Given the description of an element on the screen output the (x, y) to click on. 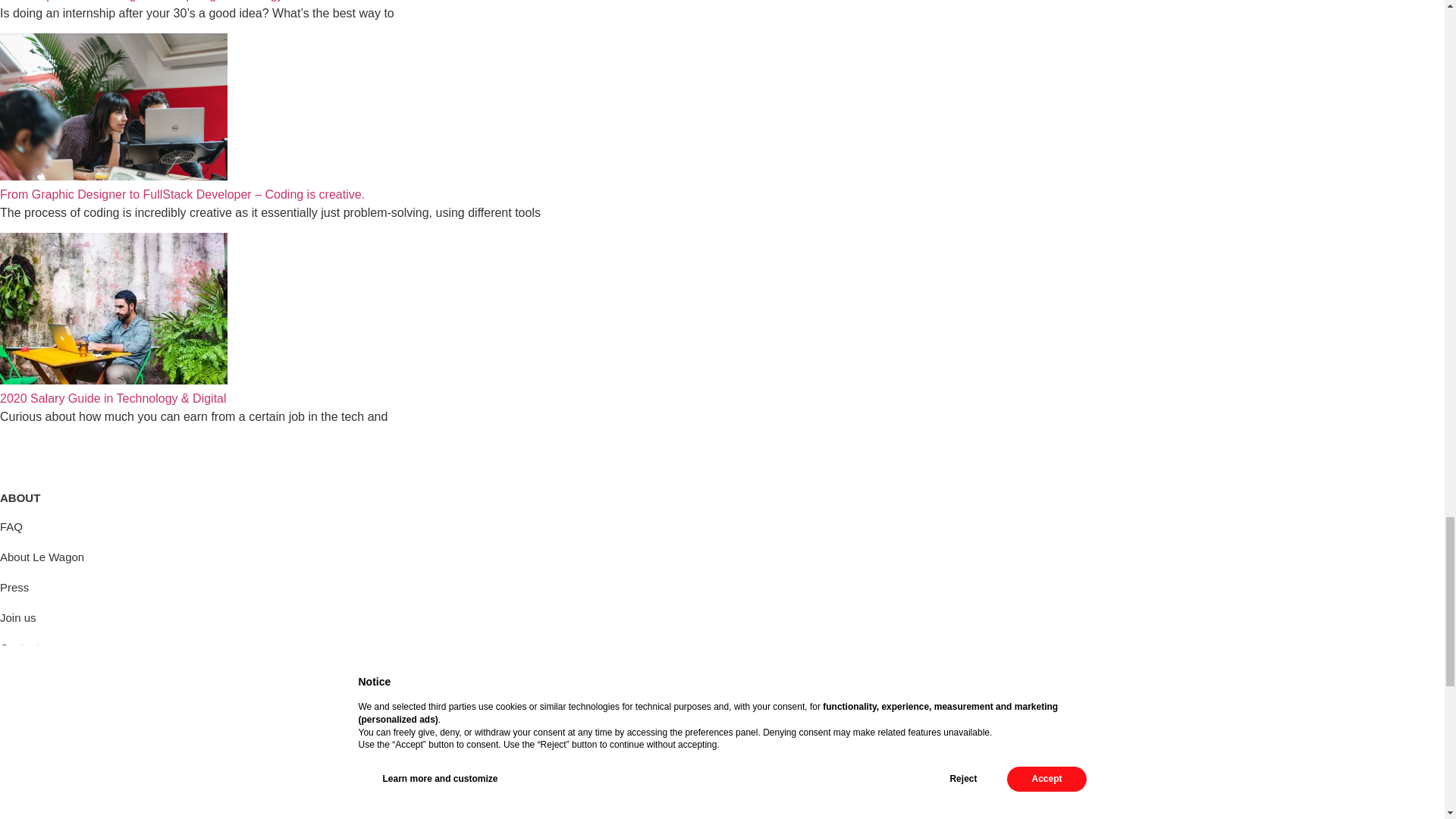
Join us (18, 617)
Press (14, 586)
About Le Wagon (42, 556)
